Given the description of an element on the screen output the (x, y) to click on. 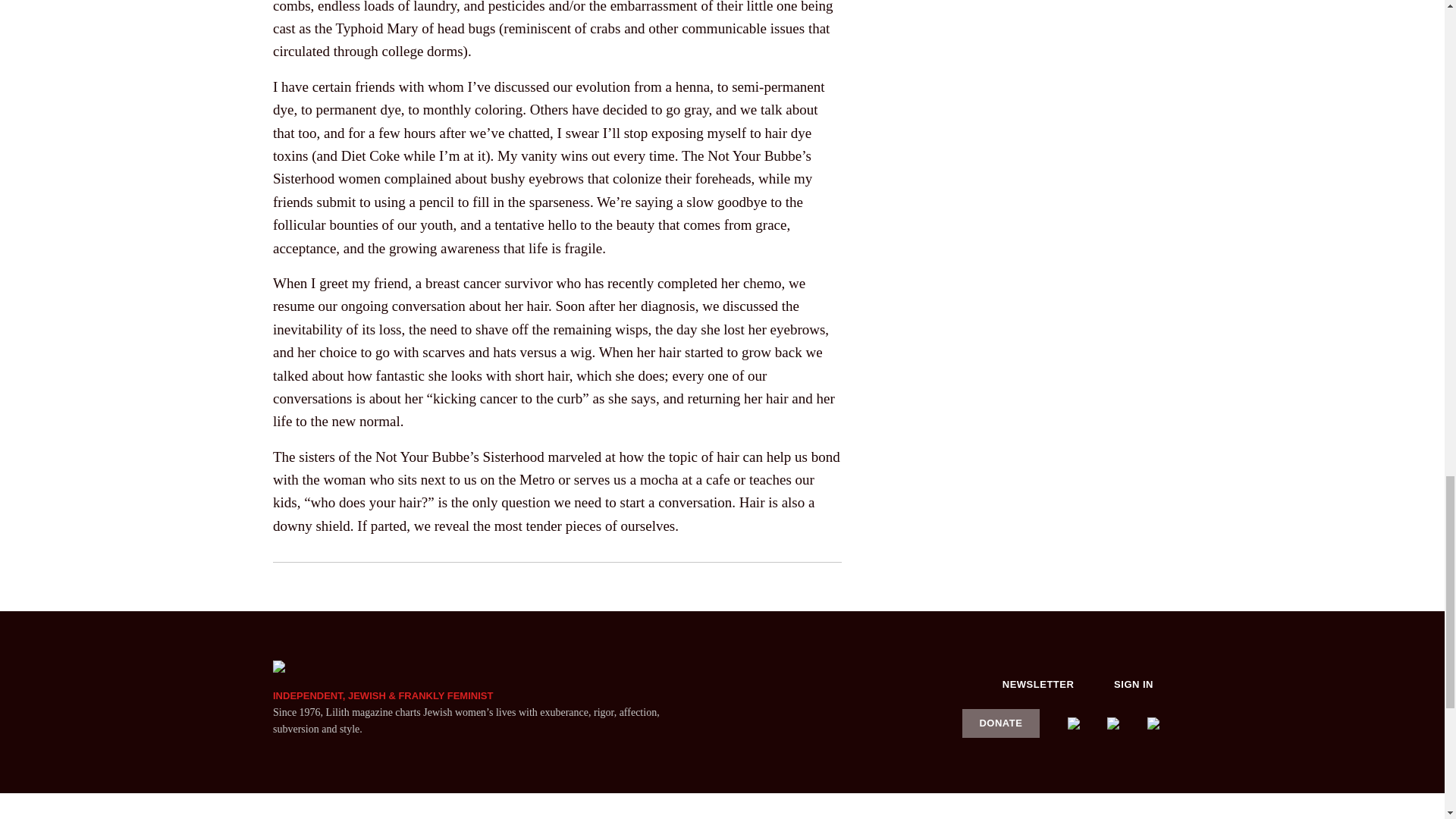
DONATE (1000, 723)
NEWSLETTER (1038, 684)
SIGN IN (1134, 684)
